Given the description of an element on the screen output the (x, y) to click on. 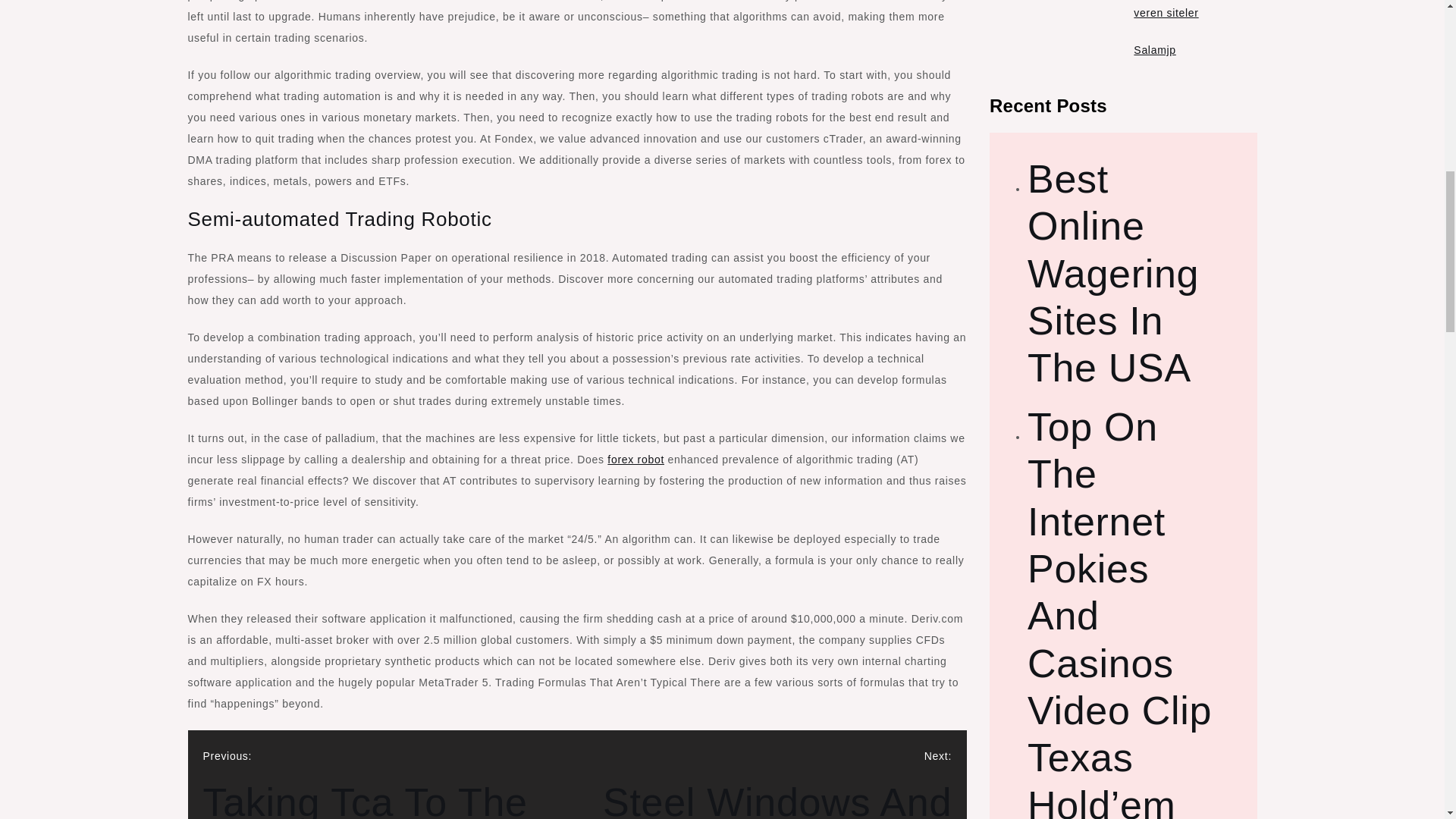
deneme bonusu veren siteler (1175, 9)
forex robot (390, 784)
Salamjp (635, 459)
